Given the description of an element on the screen output the (x, y) to click on. 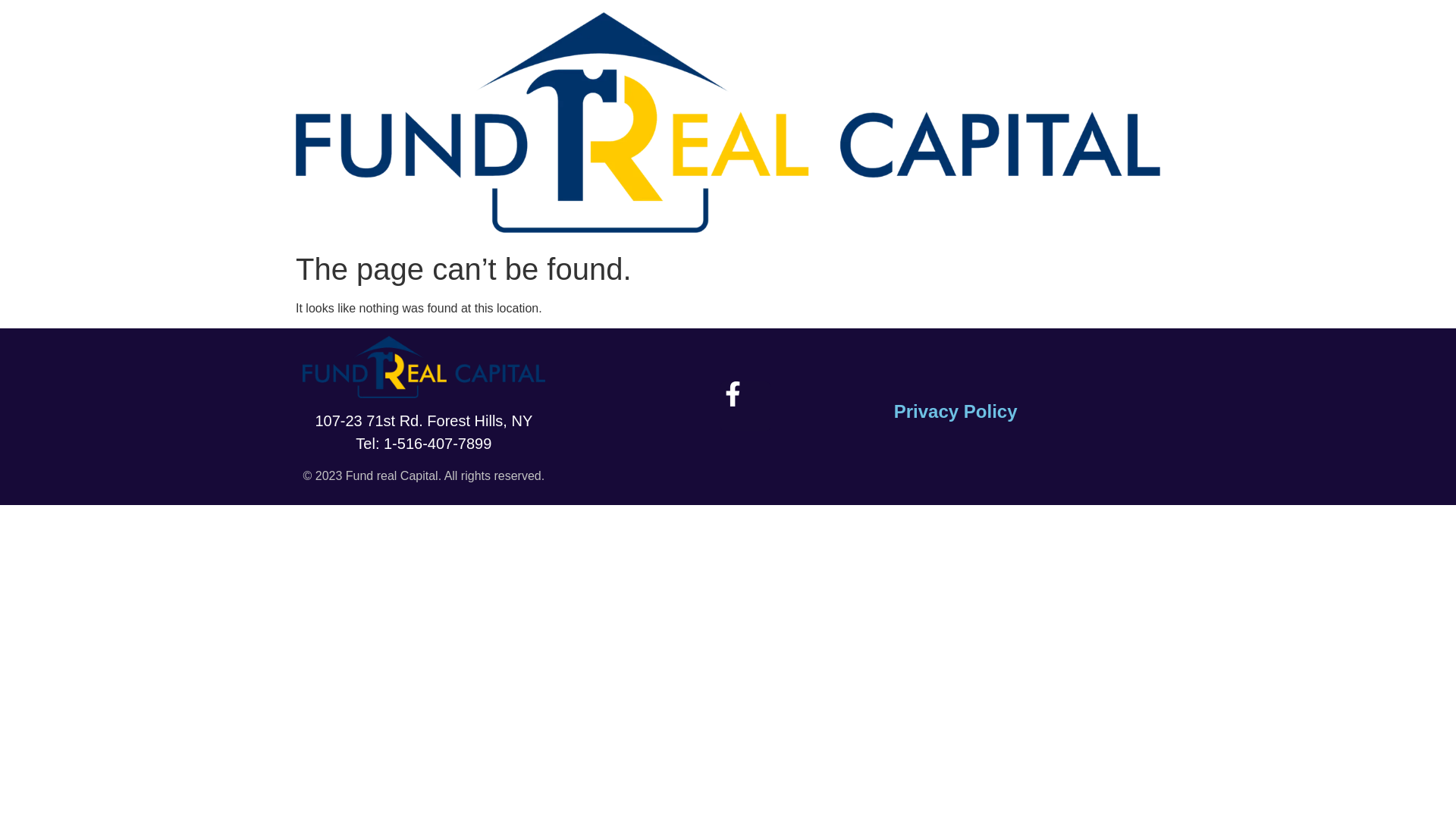
Privacy Policy (955, 411)
